Given the description of an element on the screen output the (x, y) to click on. 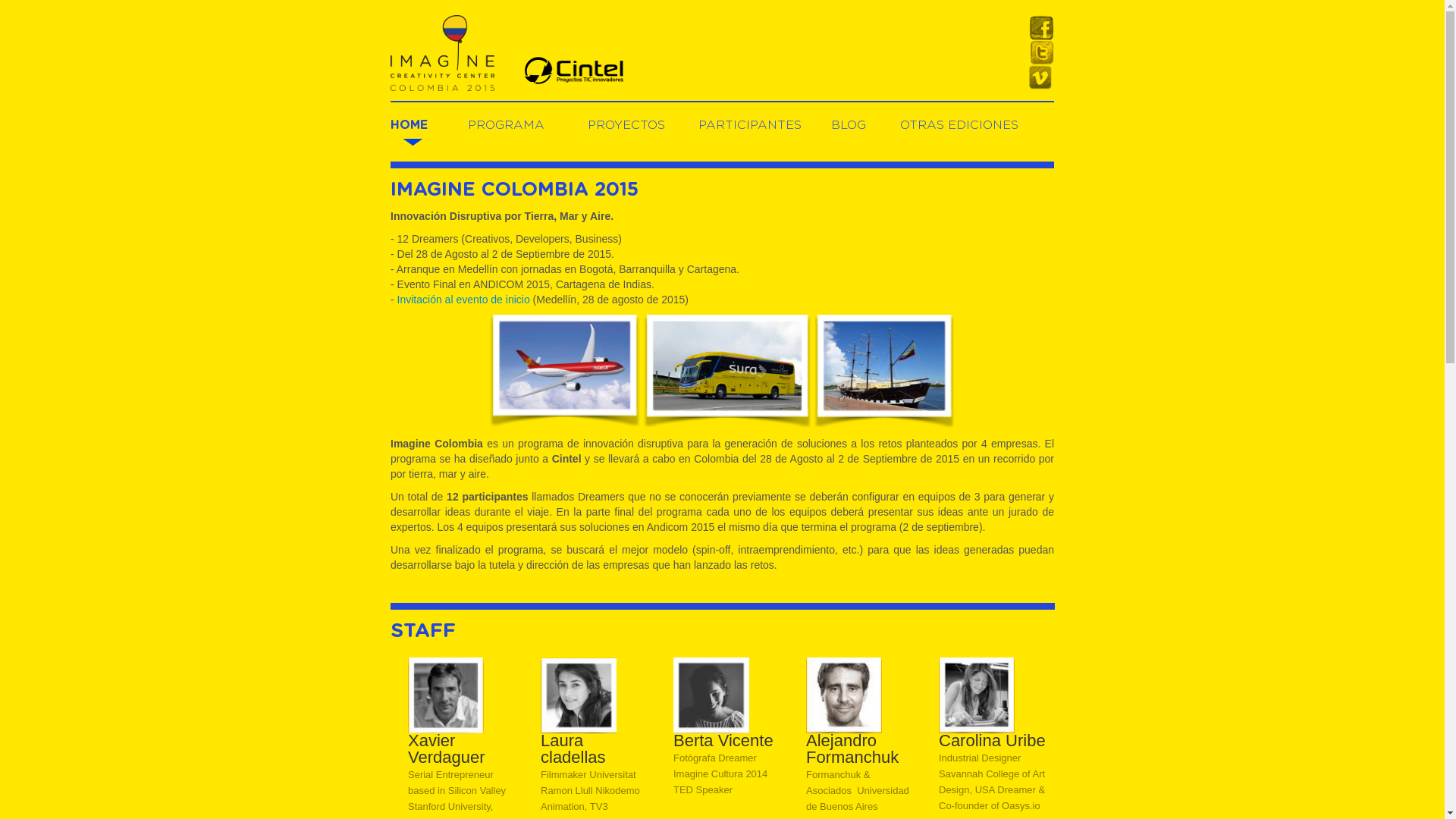
Alejandro Formanchuk Element type: hover (843, 694)
BLOG Element type: text (848, 125)
Xavier Verdaguer Element type: hover (445, 694)
PROGRAMA Element type: text (505, 125)
OTRAS EDICIONES Element type: text (959, 125)
PARTICIPANTES Element type: text (749, 125)
Laura cladellas Element type: hover (578, 694)
Berta Vicente Element type: hover (711, 694)
HOME Element type: text (408, 125)
Carolina Uribe Element type: hover (976, 694)
PROYECTOS Element type: text (625, 125)
